Given the description of an element on the screen output the (x, y) to click on. 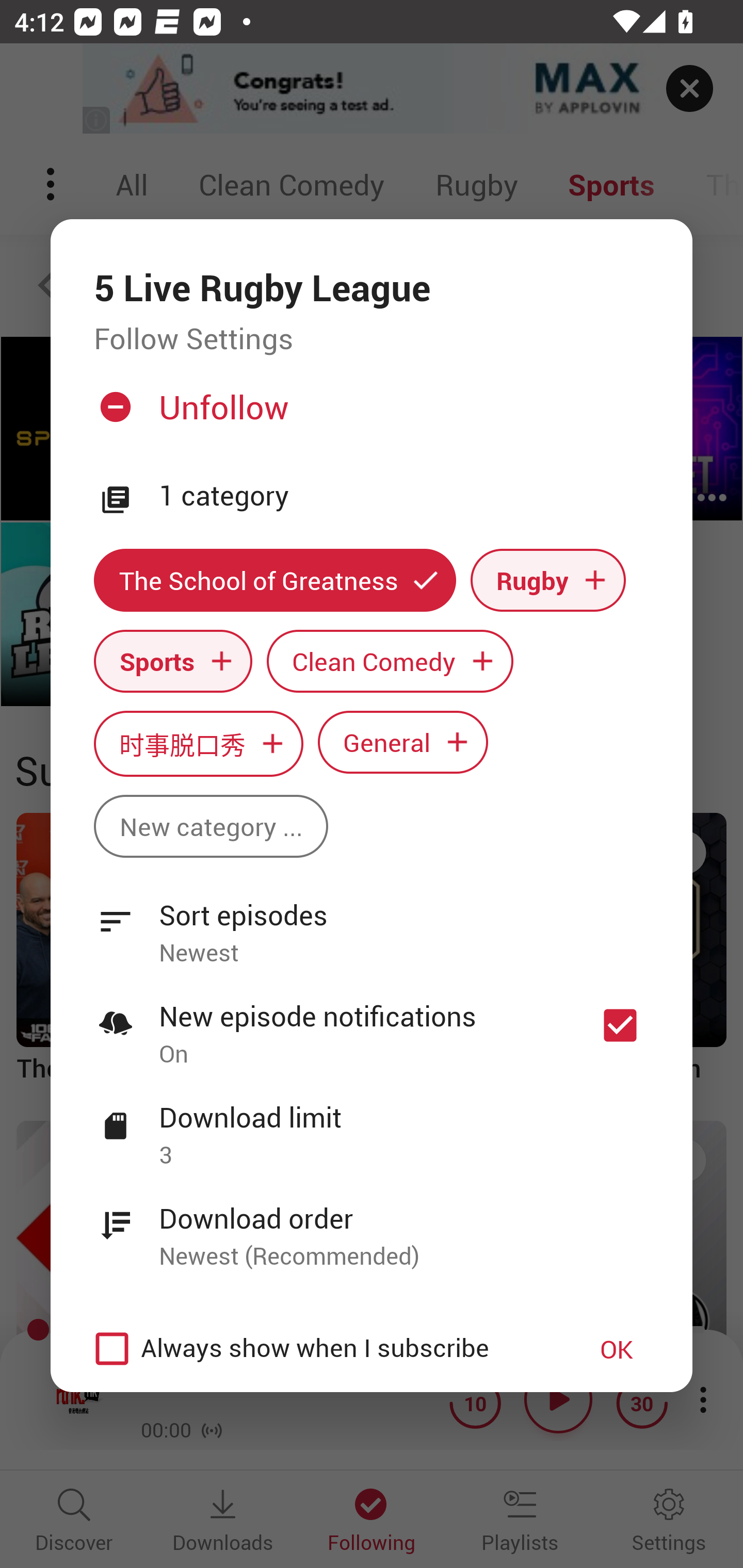
Unfollow (369, 415)
1 category (404, 495)
The School of Greatness (274, 579)
Rugby (547, 579)
Sports (172, 661)
Clean Comedy (389, 661)
时事脱口秀 (198, 743)
General (403, 741)
New category ... (210, 825)
Sort episodes Newest (371, 922)
New episode notifications (620, 1025)
Download limit 3 (371, 1125)
Download order Newest (Recommended) (371, 1226)
OK (616, 1349)
Always show when I subscribe (320, 1349)
